Given the description of an element on the screen output the (x, y) to click on. 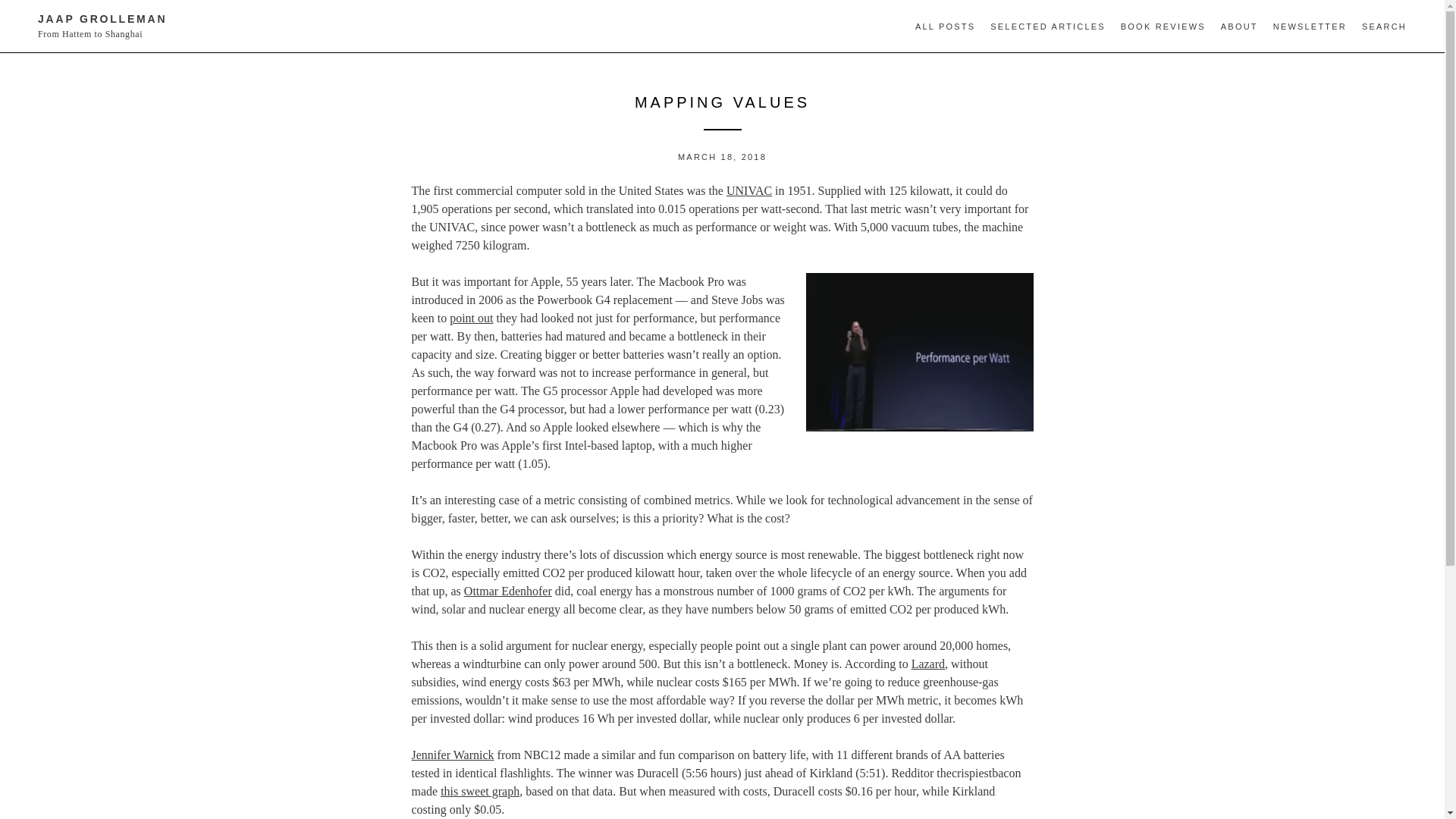
SEARCH (1383, 26)
this sweet graph (480, 790)
NEWSLETTER (1309, 26)
SELECTED ARTICLES (1047, 26)
Jennifer Warnick (451, 754)
ALL POSTS (945, 26)
UNIVAC (748, 190)
JAAP GROLLEMAN (102, 19)
ABOUT (1239, 26)
point out (471, 318)
